Given the description of an element on the screen output the (x, y) to click on. 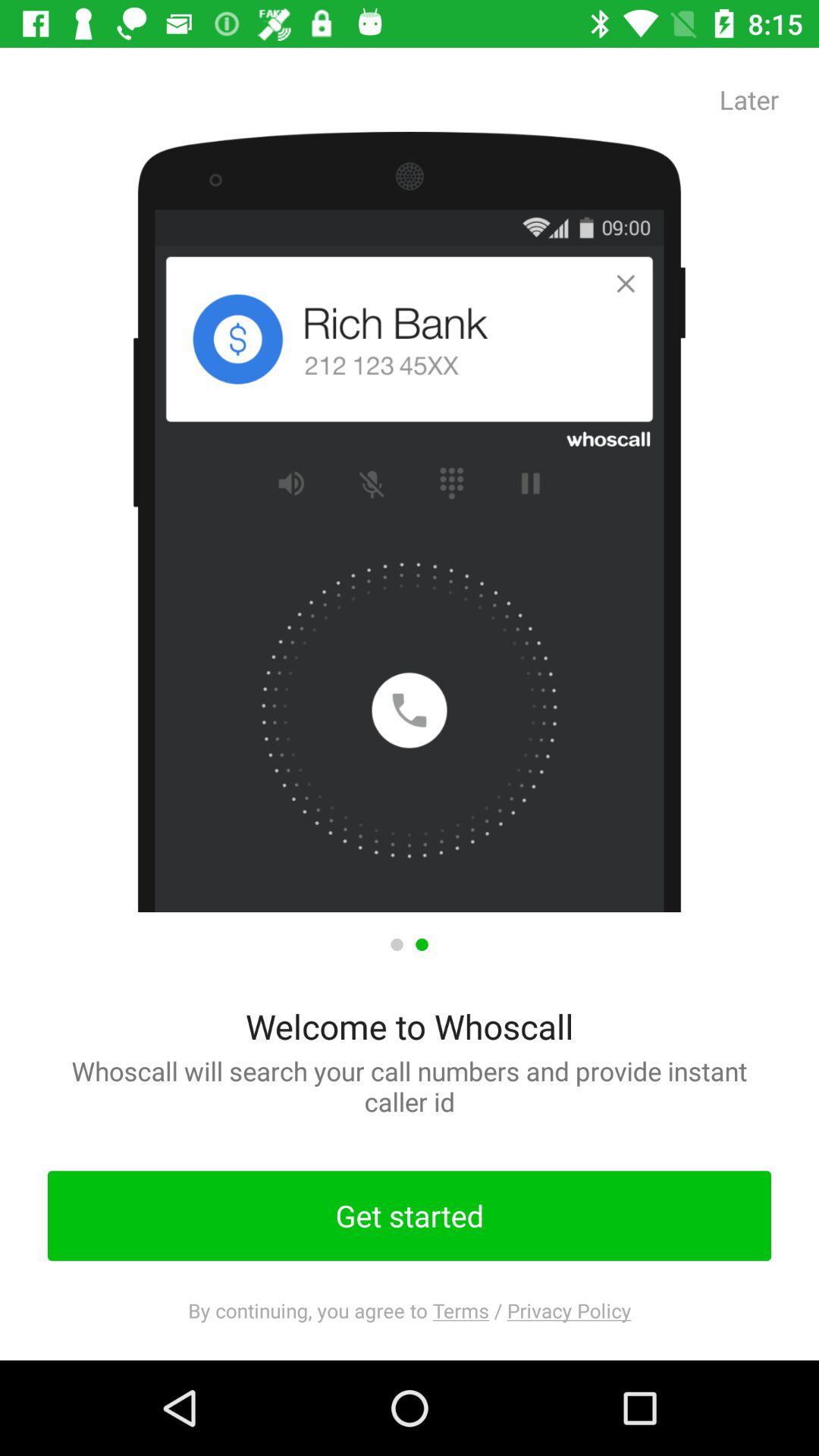
open the later app (749, 99)
